Given the description of an element on the screen output the (x, y) to click on. 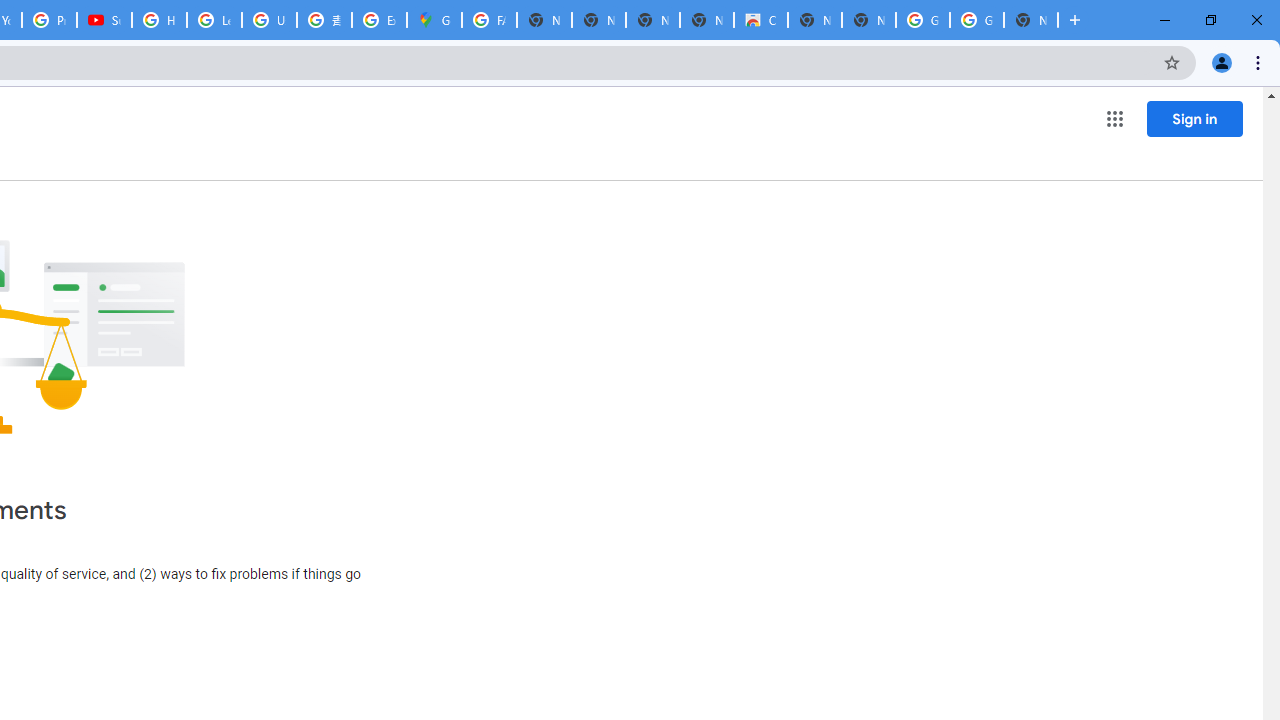
Google Images (922, 20)
Subscriptions - YouTube (103, 20)
